Given the description of an element on the screen output the (x, y) to click on. 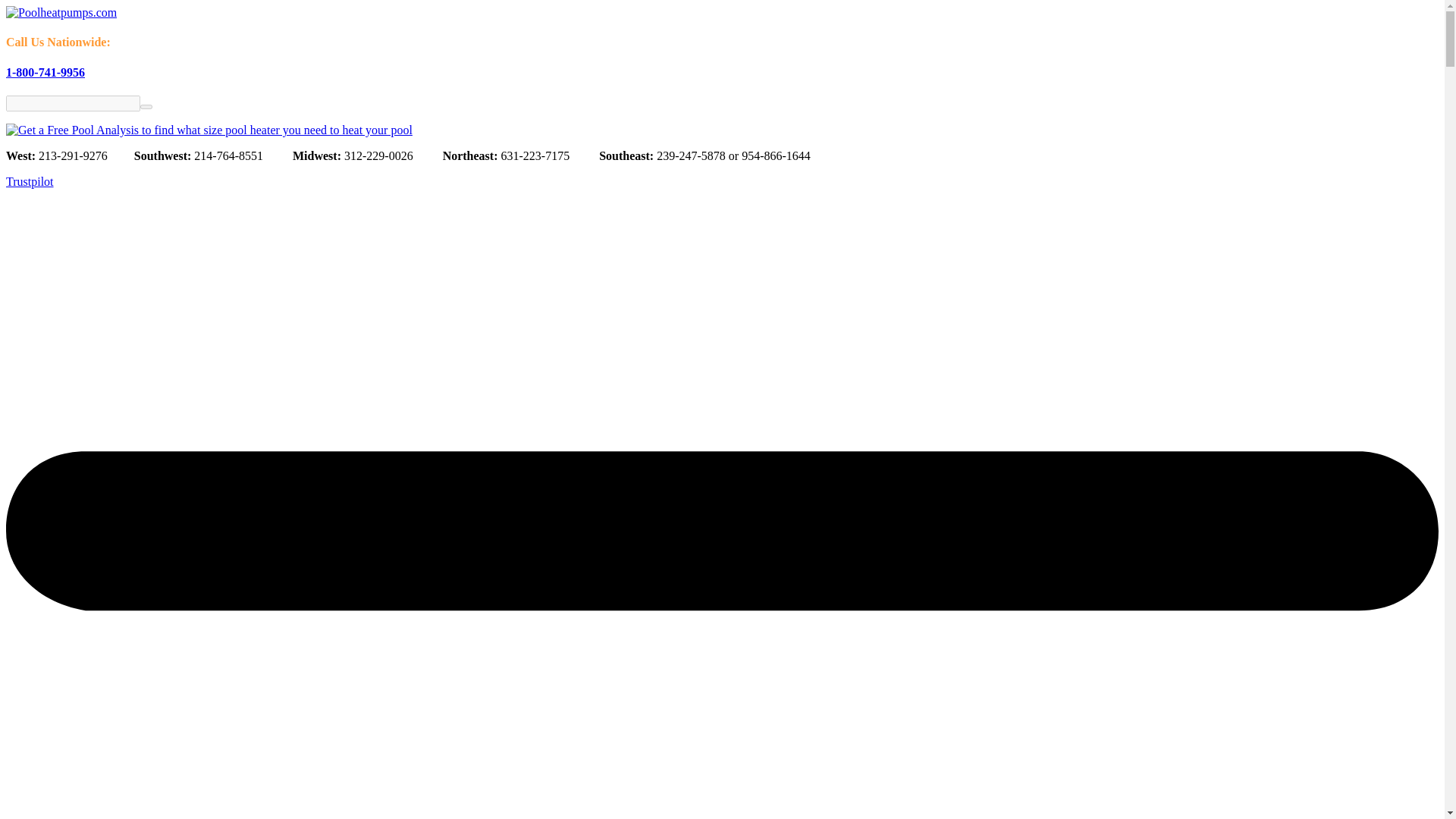
Trustpilot (29, 181)
Poolheatpumps.com (60, 12)
Search (72, 103)
Poolheatpumps.com (60, 11)
1-800-741-9956 (44, 72)
Search (145, 106)
